Given the description of an element on the screen output the (x, y) to click on. 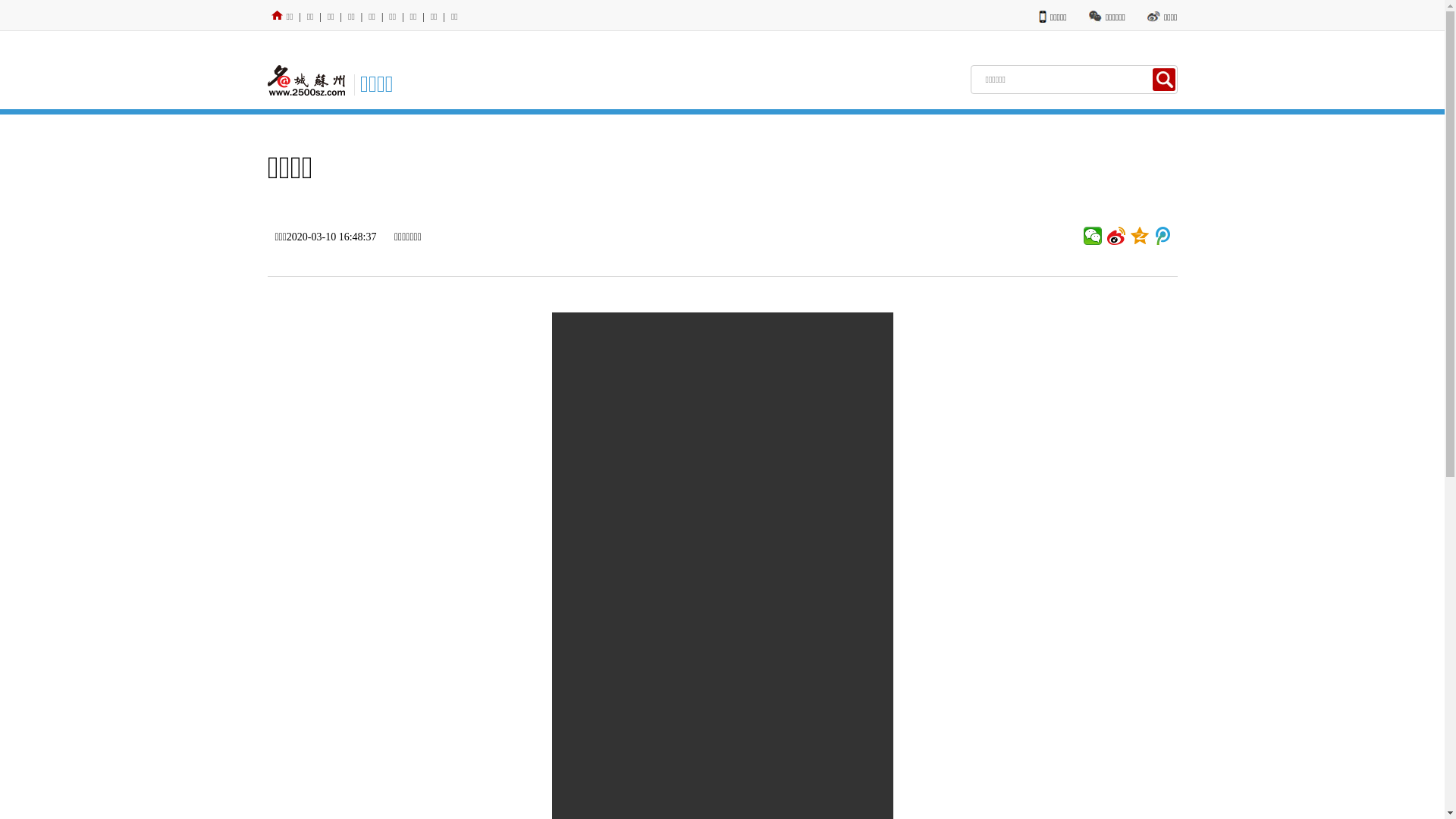
  Element type: text (1163, 79)
